Given the description of an element on the screen output the (x, y) to click on. 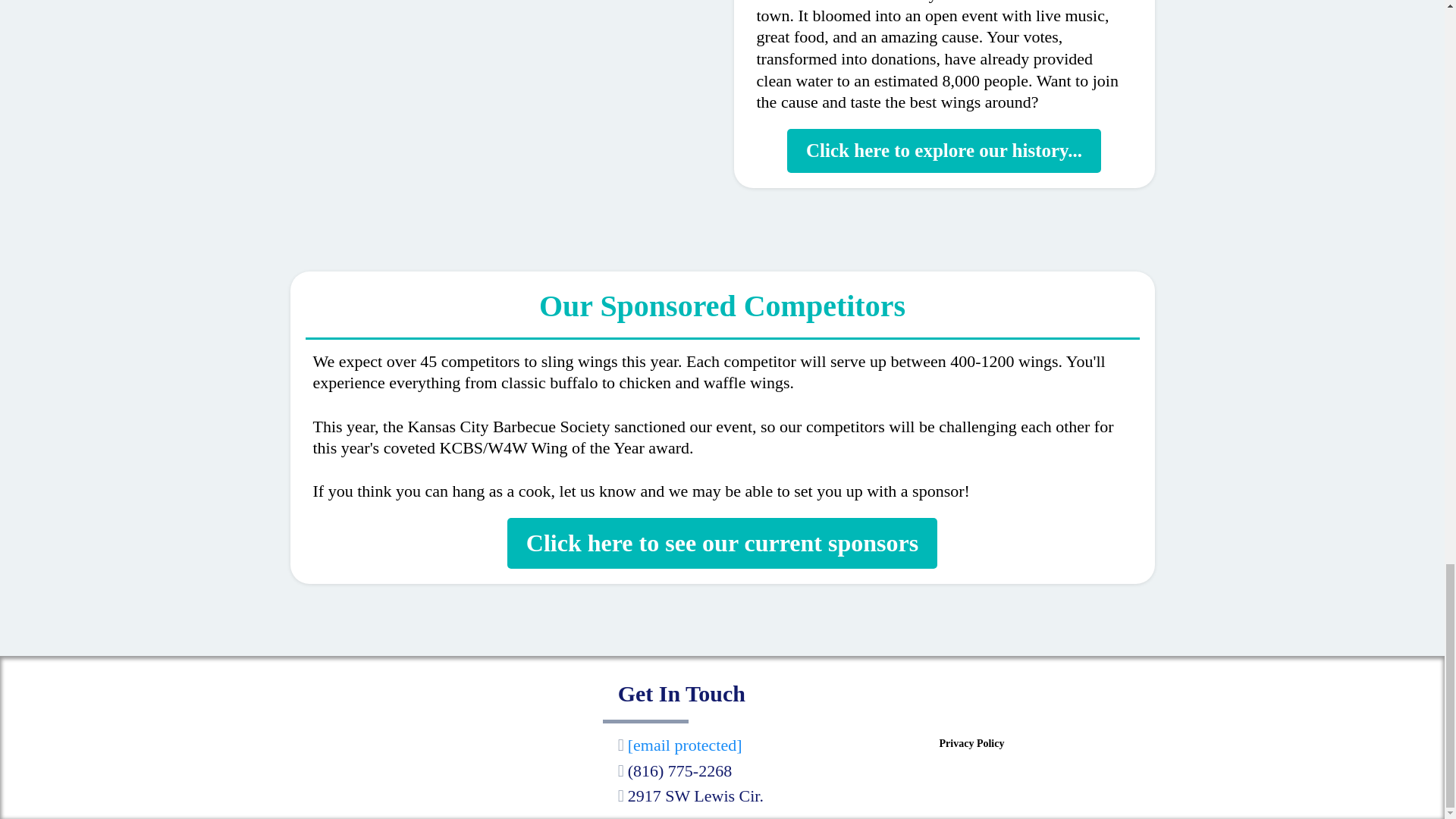
Click here to explore our history... (943, 150)
Privacy Policy (971, 742)
Click here to see our current sponsors (721, 542)
